Given the description of an element on the screen output the (x, y) to click on. 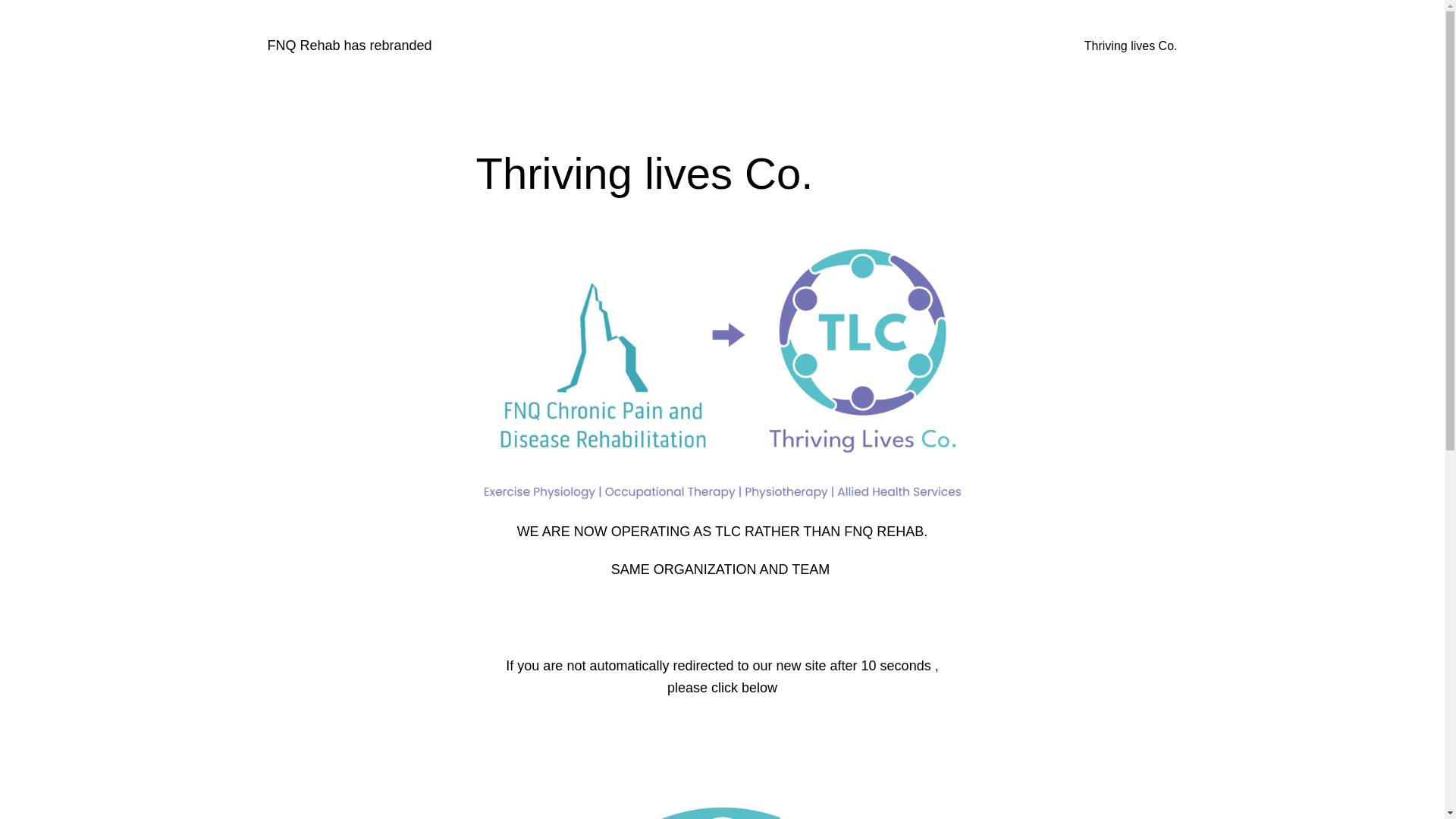
FNQ Rehab has rebranded Element type: text (348, 45)
Thriving lives Co. Element type: text (1130, 46)
